Given the description of an element on the screen output the (x, y) to click on. 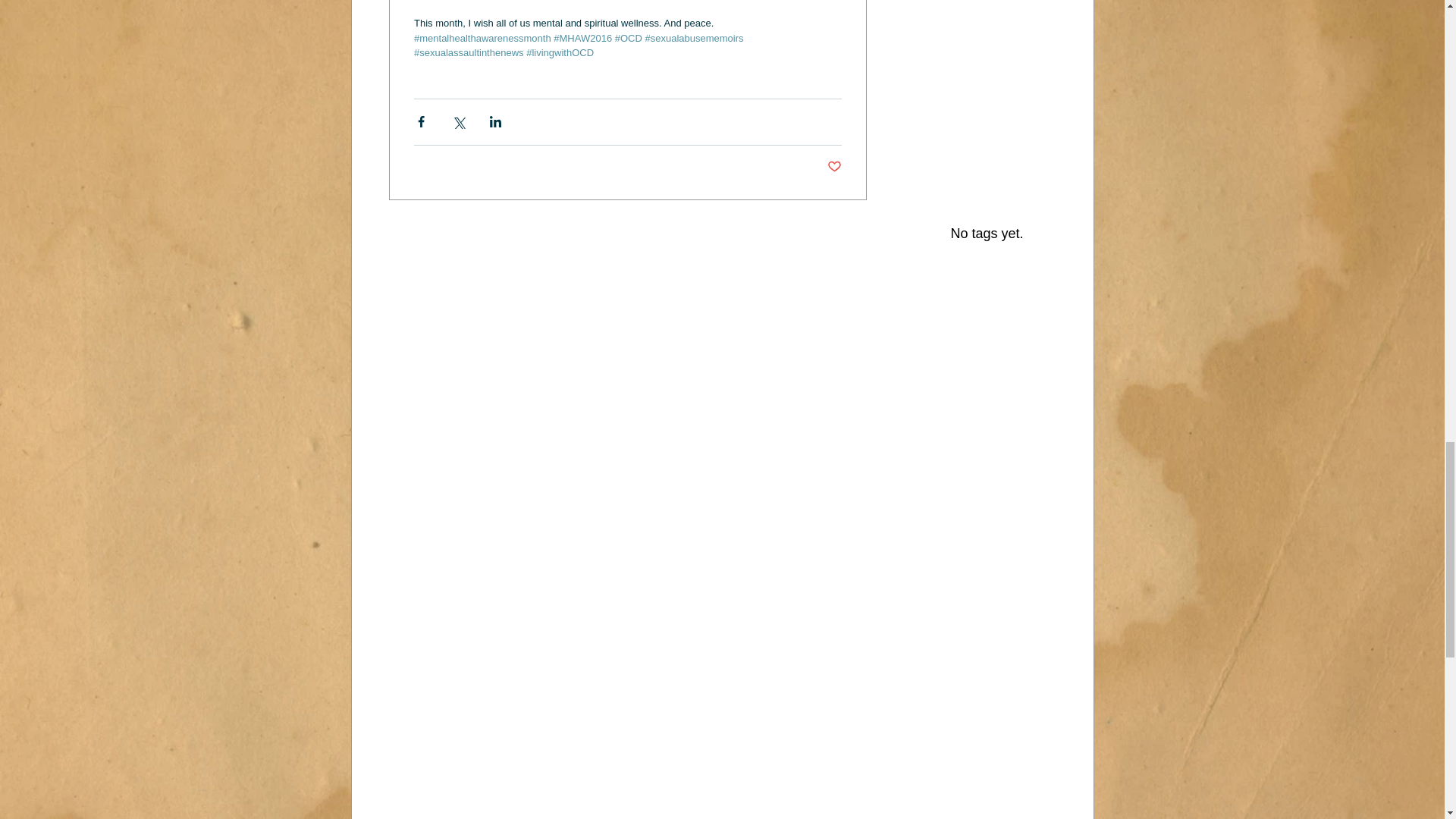
Post not marked as liked (834, 166)
